Given the description of an element on the screen output the (x, y) to click on. 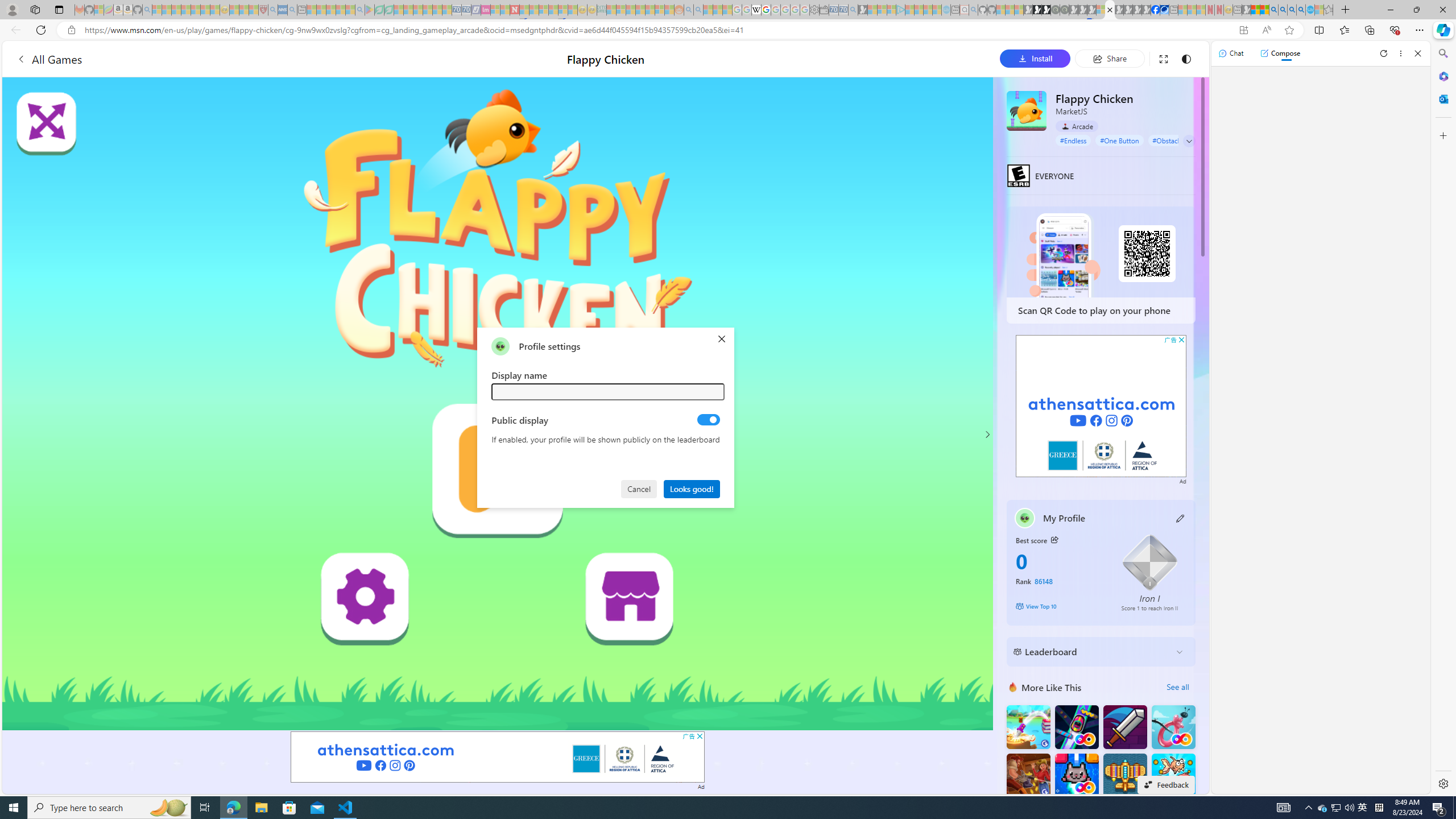
Advertisement (1101, 405)
Advertisement (1101, 405)
Install (1034, 58)
Fish Merge FRVR (1173, 775)
Kitten Force FRVR (1076, 775)
